Given the description of an element on the screen output the (x, y) to click on. 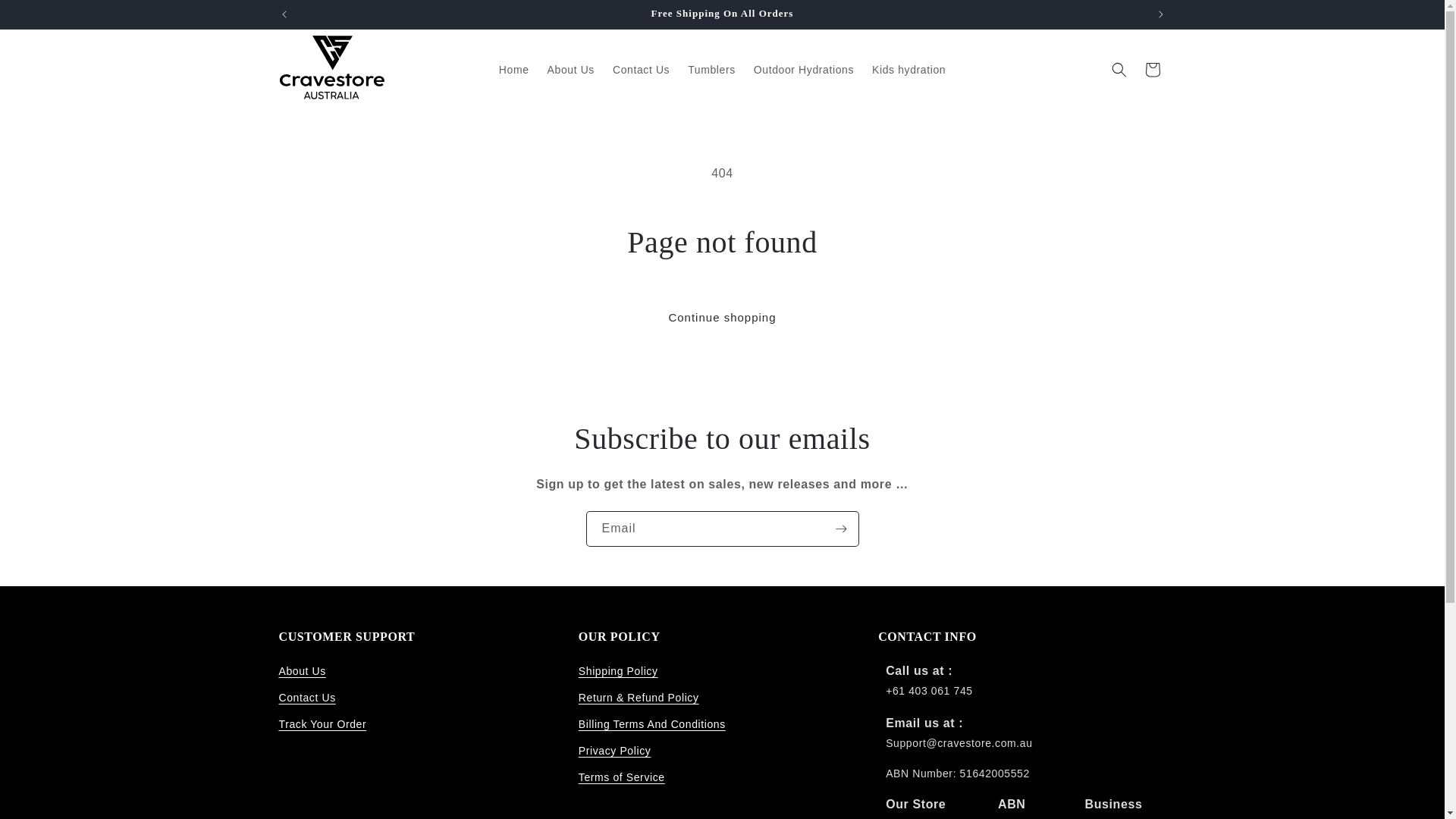
Privacy Policy (614, 750)
Tumblers (711, 69)
Terms of Service (621, 777)
Skip to content (45, 17)
Outdoor Hydrations (803, 69)
Kids hydration (909, 69)
Shipping Policy (618, 672)
Cart (1152, 69)
Contact Us (307, 697)
About Us (571, 69)
